Given the description of an element on the screen output the (x, y) to click on. 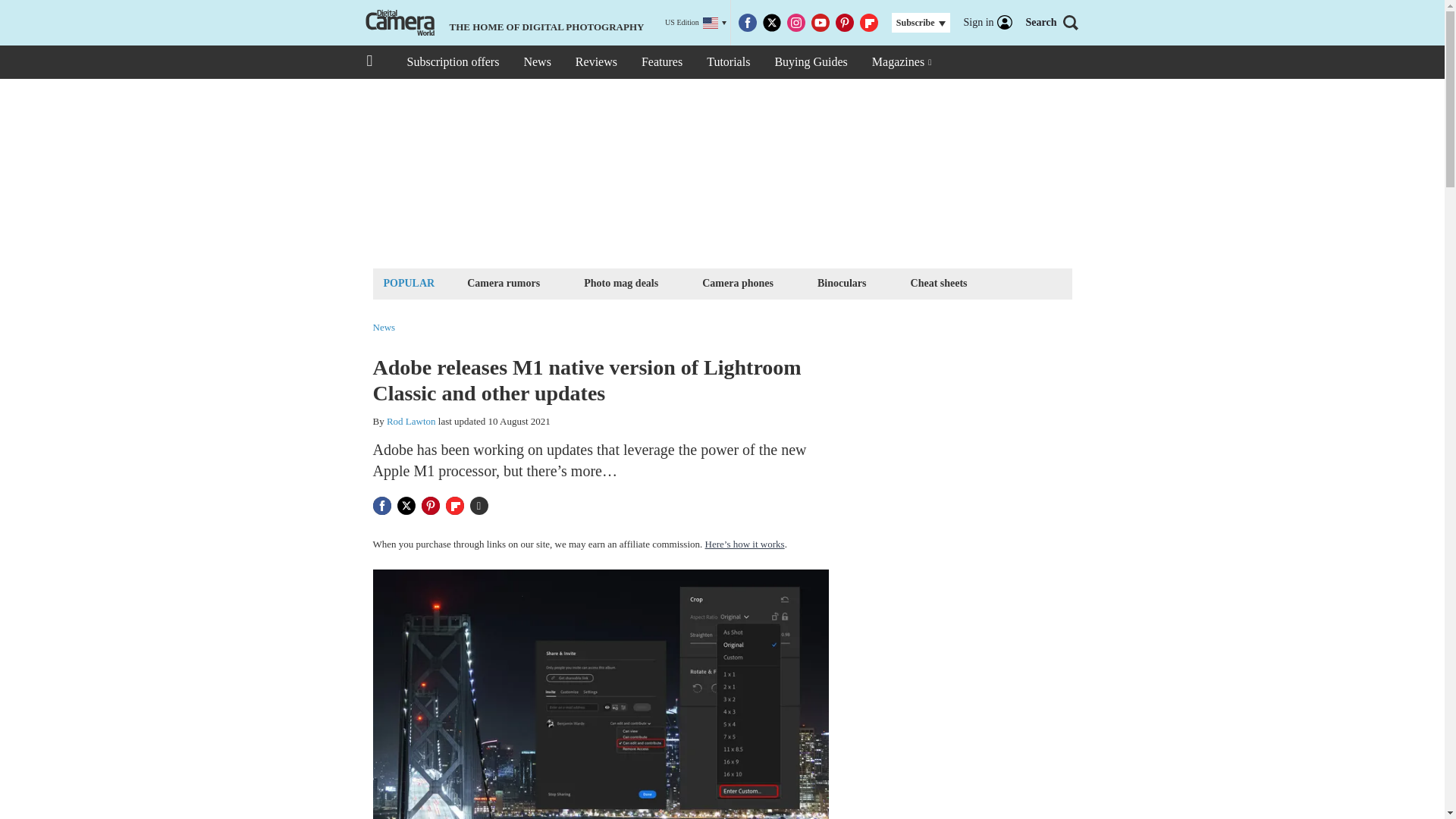
Binoculars (842, 282)
News (536, 61)
US Edition (695, 22)
THE HOME OF DIGITAL PHOTOGRAPHY (503, 22)
Photo mag deals (620, 282)
Features (661, 61)
Buying Guides (810, 61)
Camera rumors (502, 282)
Subscription offers (452, 61)
Camera phones (737, 282)
